Given the description of an element on the screen output the (x, y) to click on. 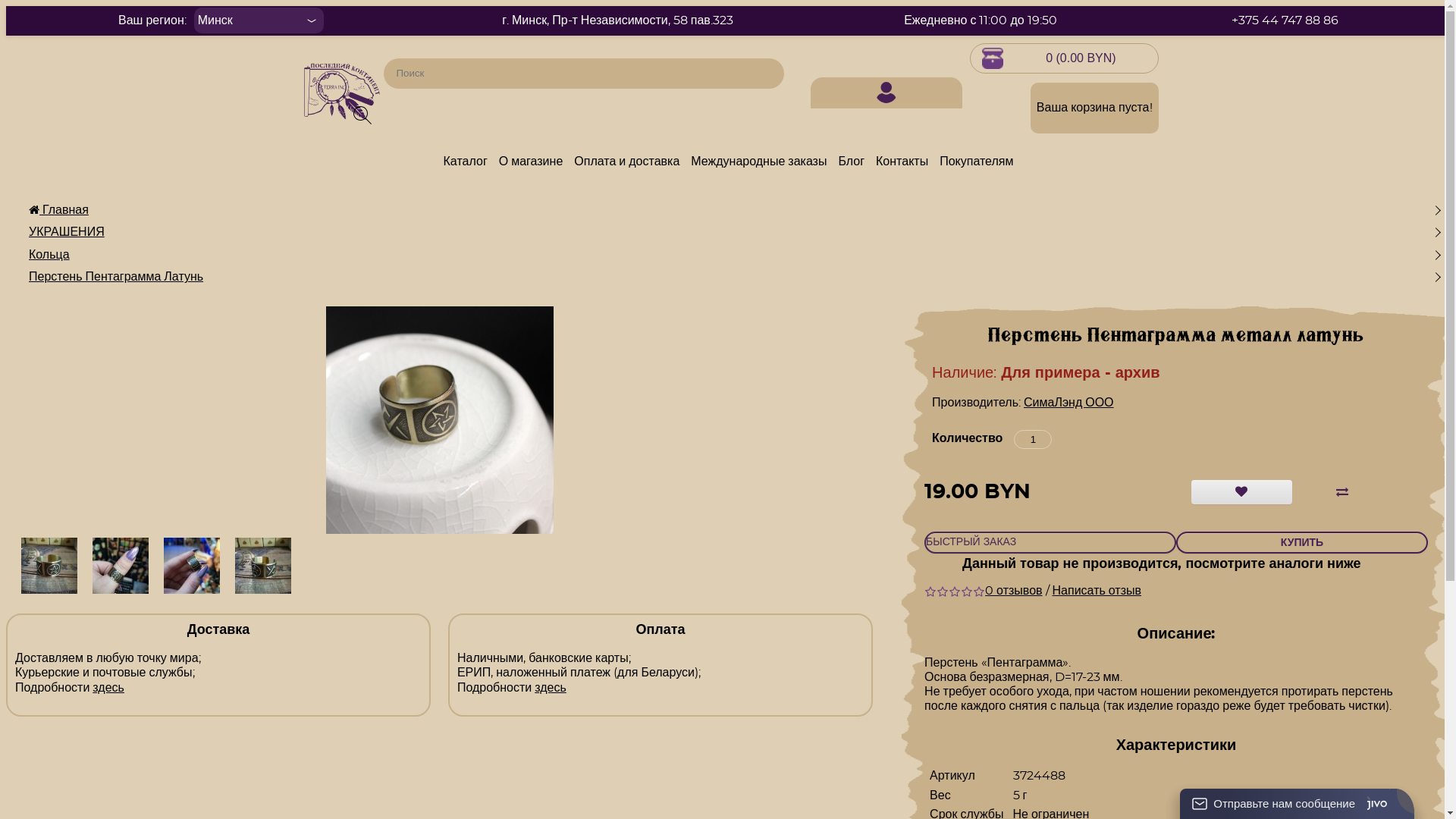
+375 44 747 88 86 Element type: text (1284, 20)
0 (0.00 BYN) Element type: text (1063, 58)
